Given the description of an element on the screen output the (x, y) to click on. 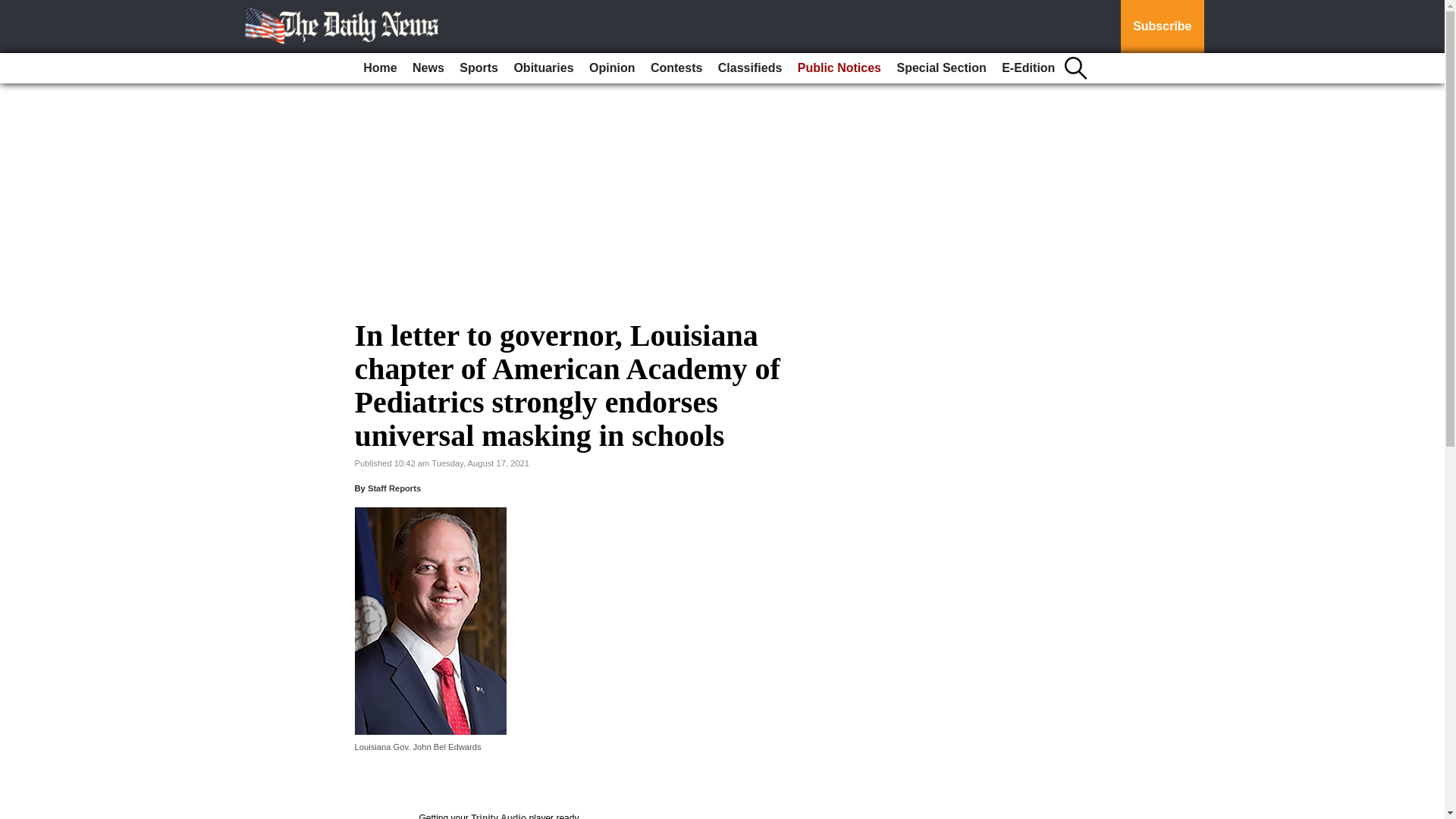
E-Edition (1028, 68)
Contests (676, 68)
Opinion (611, 68)
Classifieds (749, 68)
Staff Reports (394, 488)
Trinity Audio (497, 816)
Public Notices (839, 68)
Obituaries (542, 68)
Sports (477, 68)
Home (379, 68)
